Given the description of an element on the screen output the (x, y) to click on. 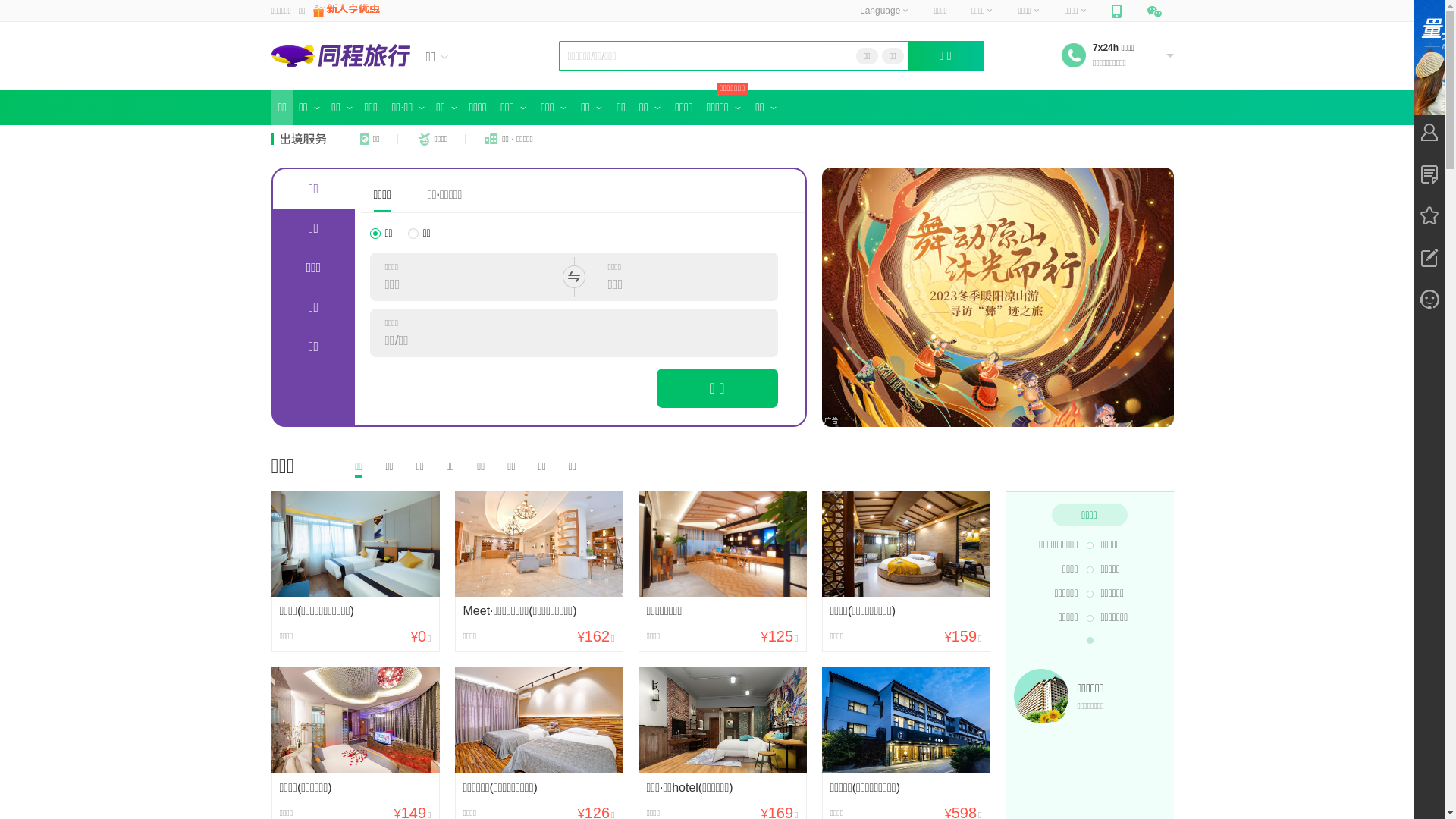
Language Element type: text (884, 10)
